Given the description of an element on the screen output the (x, y) to click on. 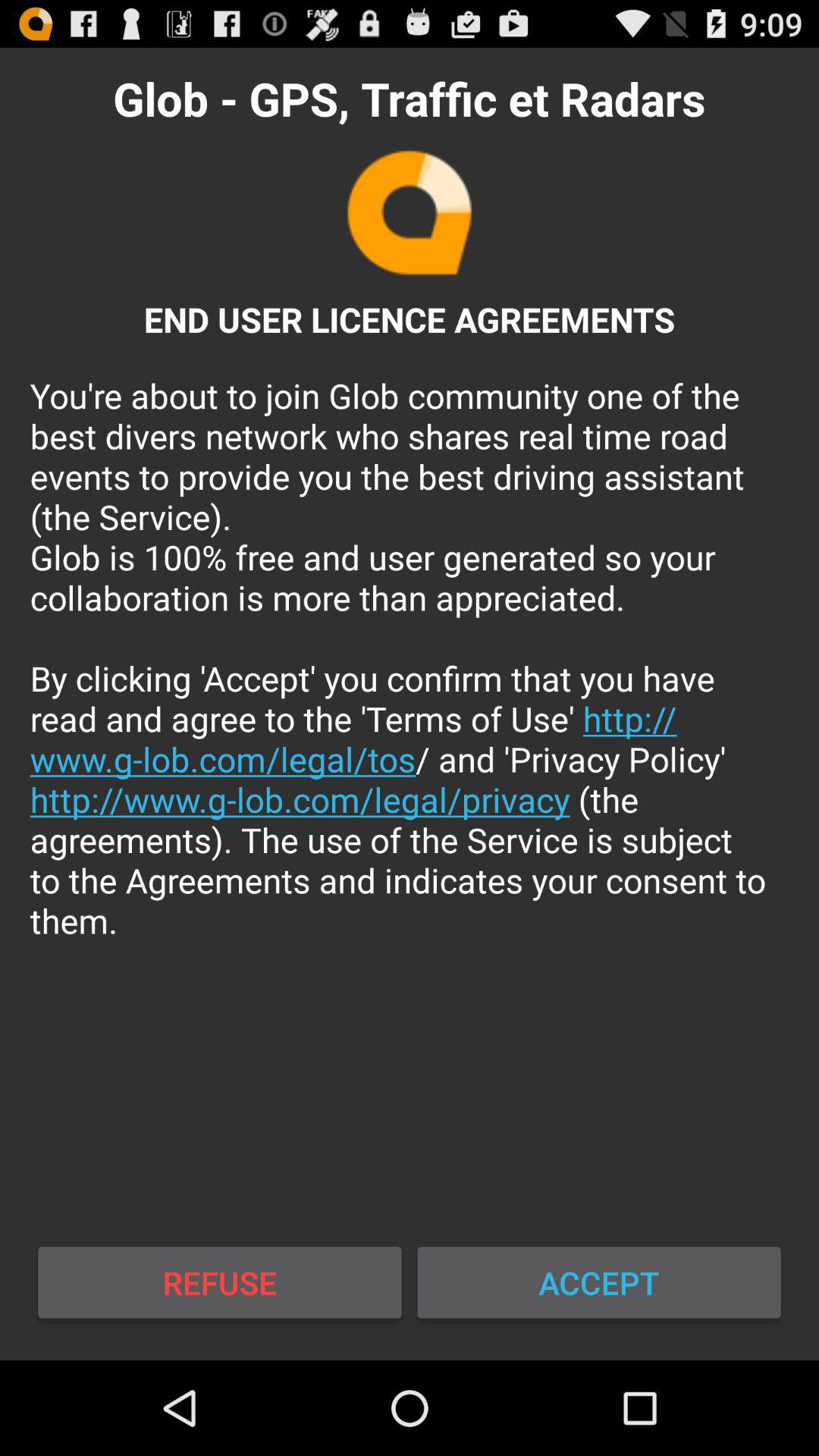
tap accept at the bottom right corner (598, 1282)
